Given the description of an element on the screen output the (x, y) to click on. 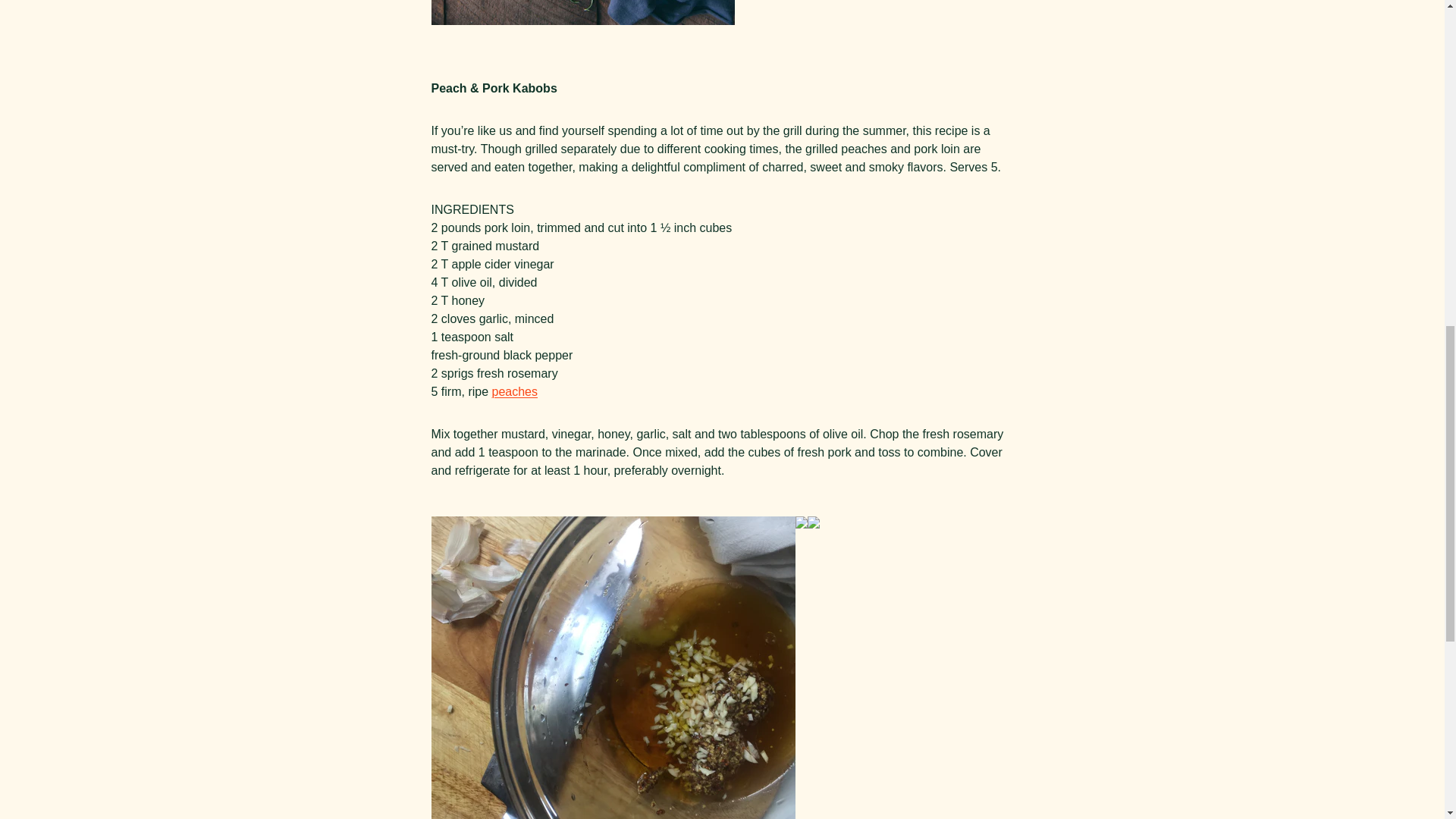
peaches (515, 391)
